Given the description of an element on the screen output the (x, y) to click on. 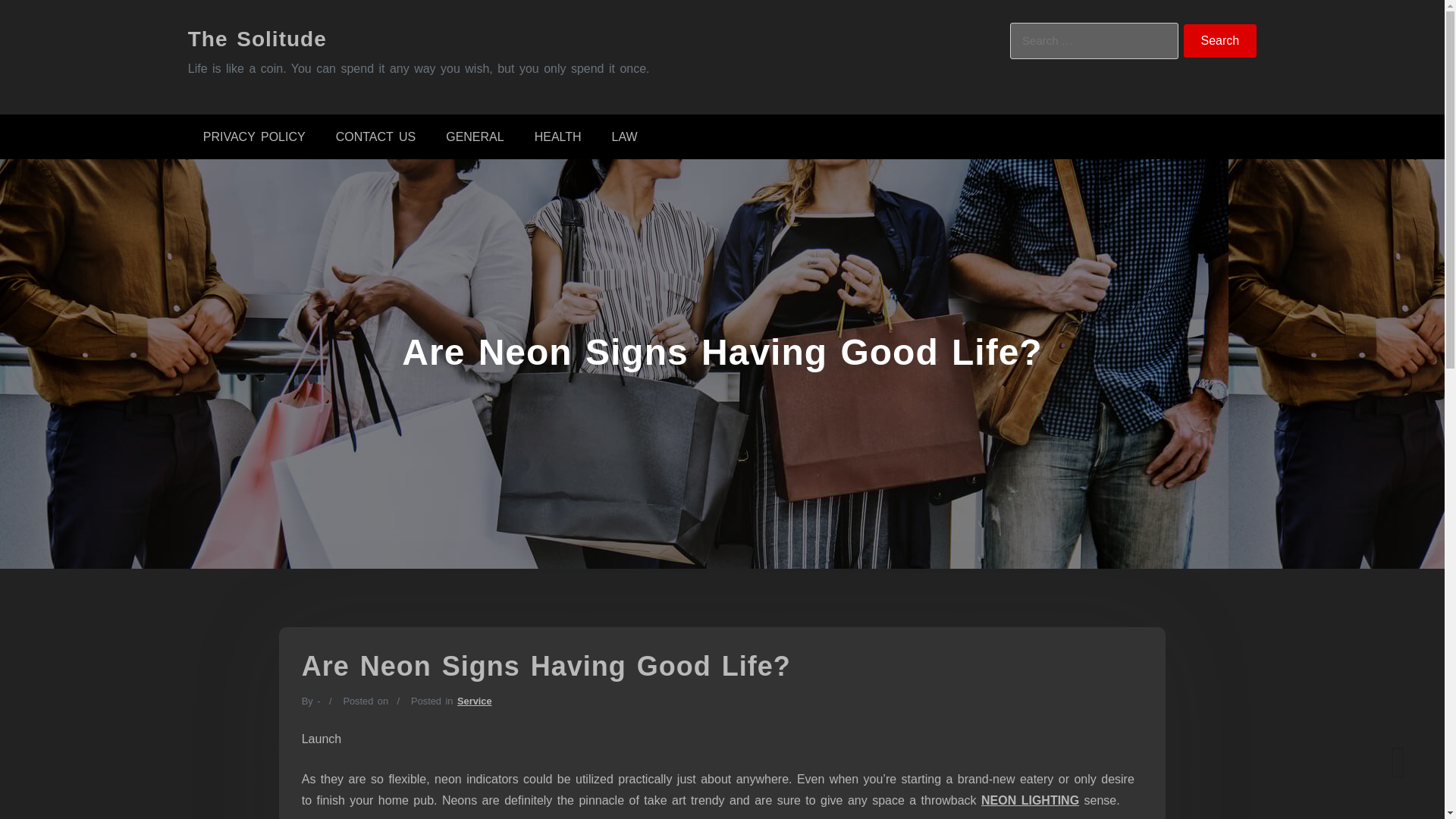
GENERAL (474, 136)
NEON LIGHTING (1029, 799)
CONTACT US (375, 136)
The Solitude (256, 38)
LAW (624, 136)
Search (1220, 40)
PRIVACY POLICY (253, 136)
Service (474, 700)
Search (1220, 40)
Search (1220, 40)
